Given the description of an element on the screen output the (x, y) to click on. 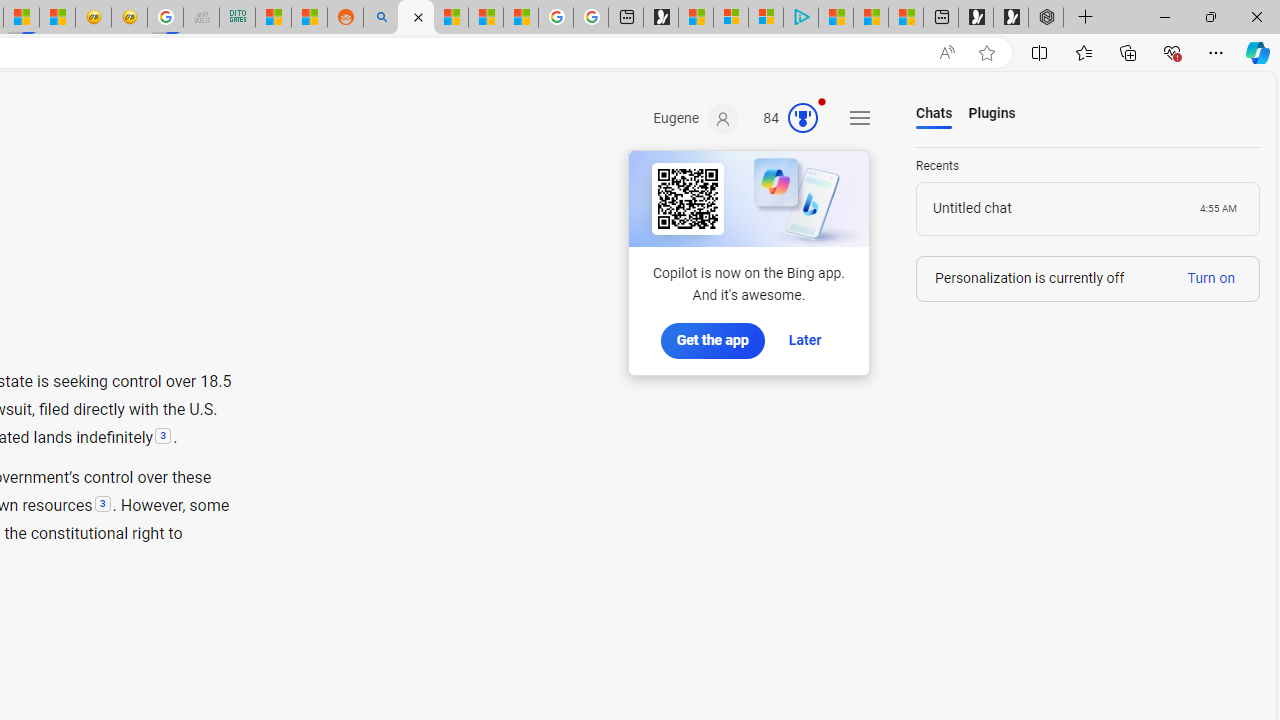
Microsoft Rewards 84 (783, 119)
